Given the description of an element on the screen output the (x, y) to click on. 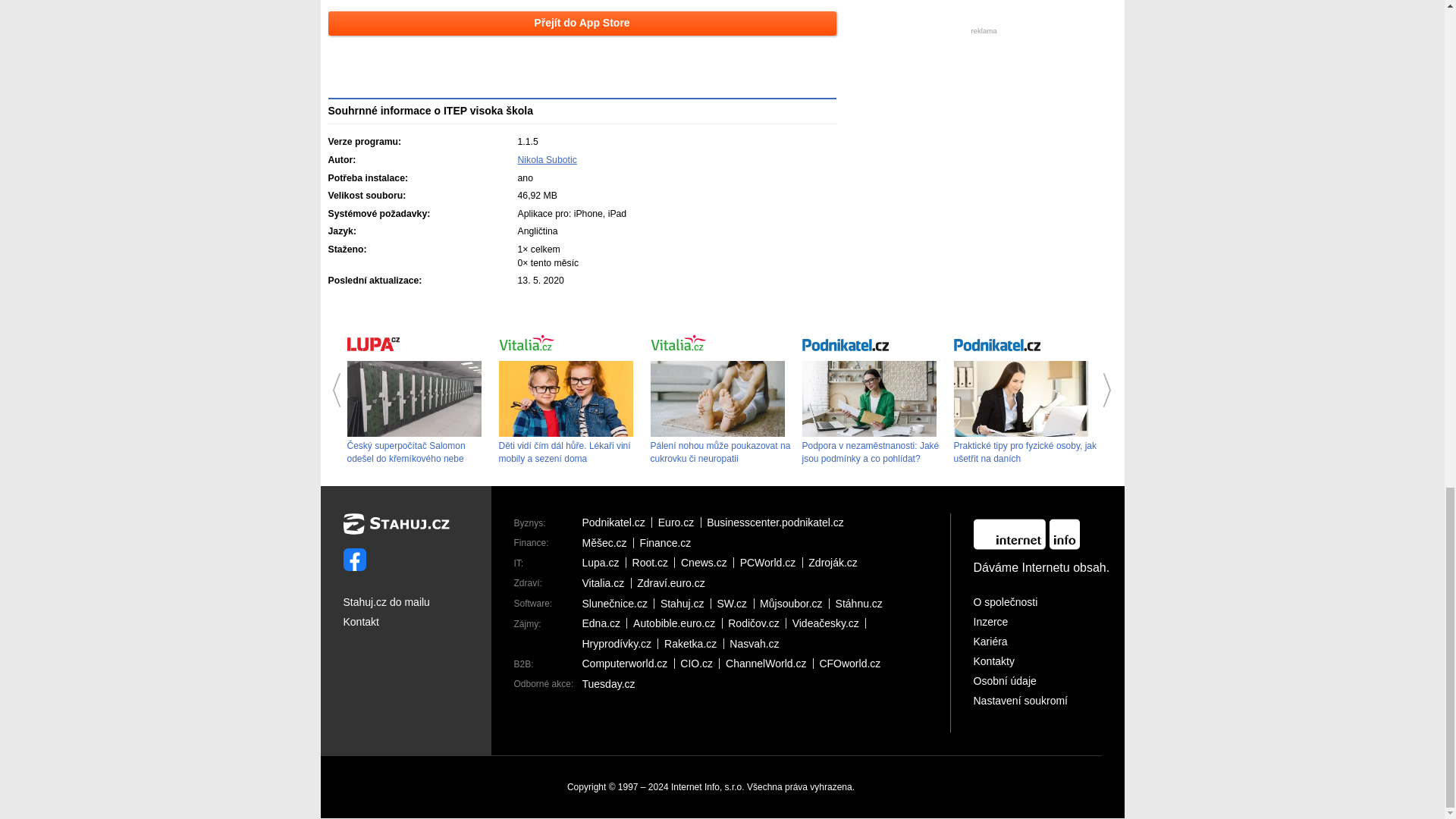
Finance.cz (668, 542)
Nikola Subotic (546, 159)
Euro.cz (679, 521)
businesscenter.podnikatel.cz (778, 521)
PCWorld (771, 562)
Cnews.cz (707, 562)
